Given the description of an element on the screen output the (x, y) to click on. 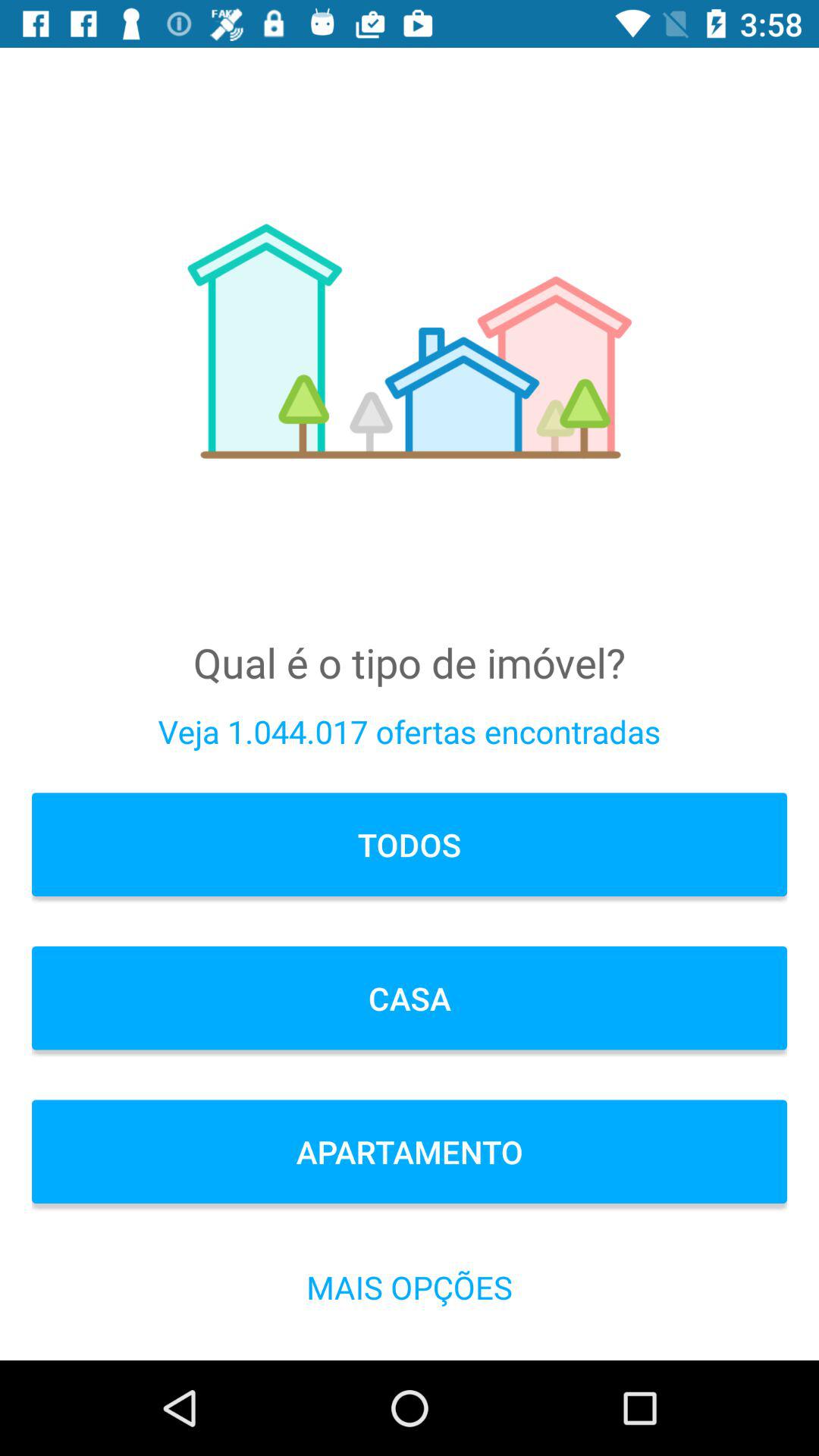
open the casa (409, 997)
